Given the description of an element on the screen output the (x, y) to click on. 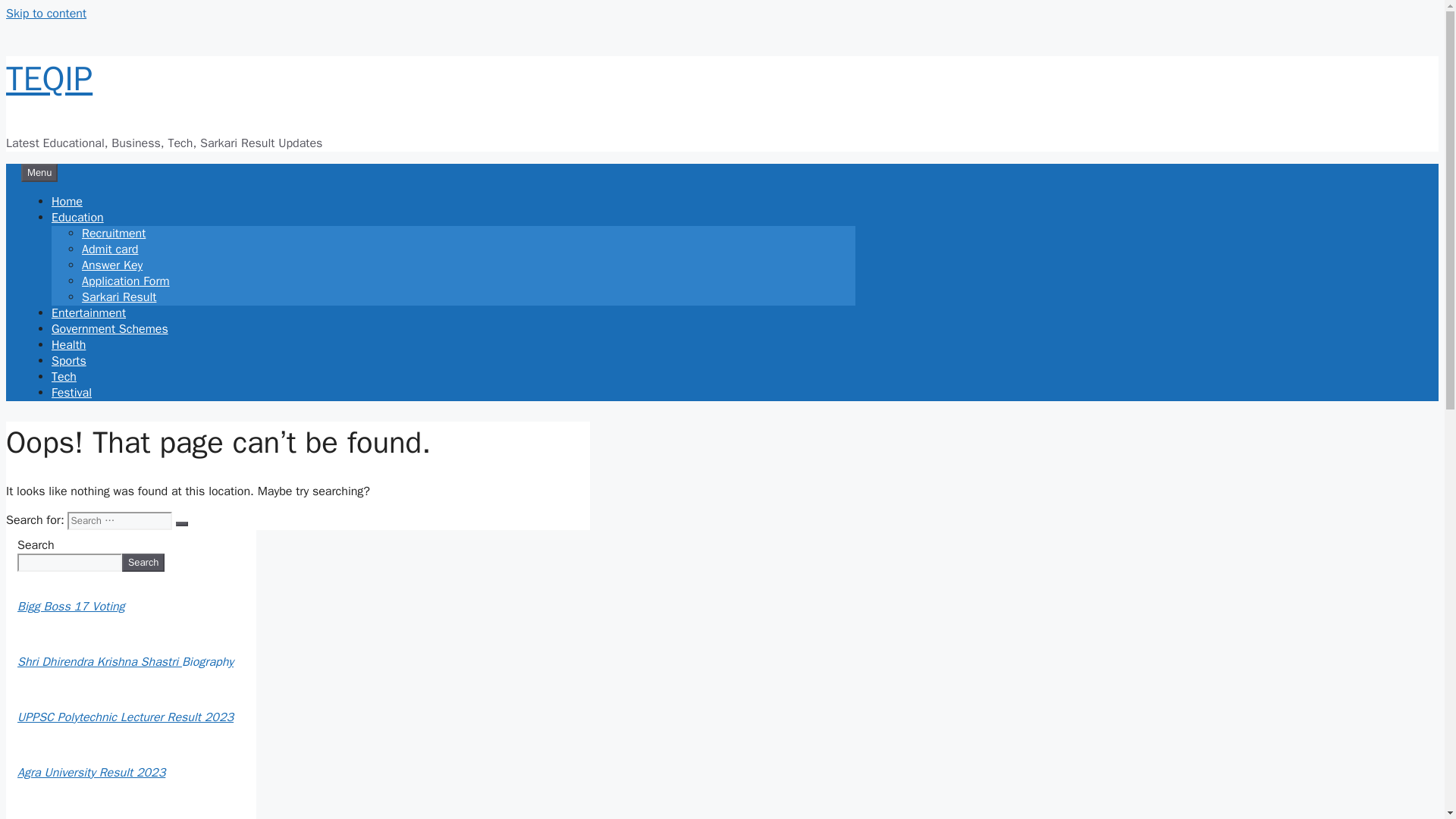
Admit card (109, 249)
Entertainment (87, 313)
Home (66, 201)
Government Schemes (109, 328)
Recruitment (113, 233)
Menu (39, 172)
Search (143, 562)
Shri Dhirendra Krishna Shastri (99, 661)
Skip to content (45, 13)
Agra University Result 2023 (91, 772)
